Given the description of an element on the screen output the (x, y) to click on. 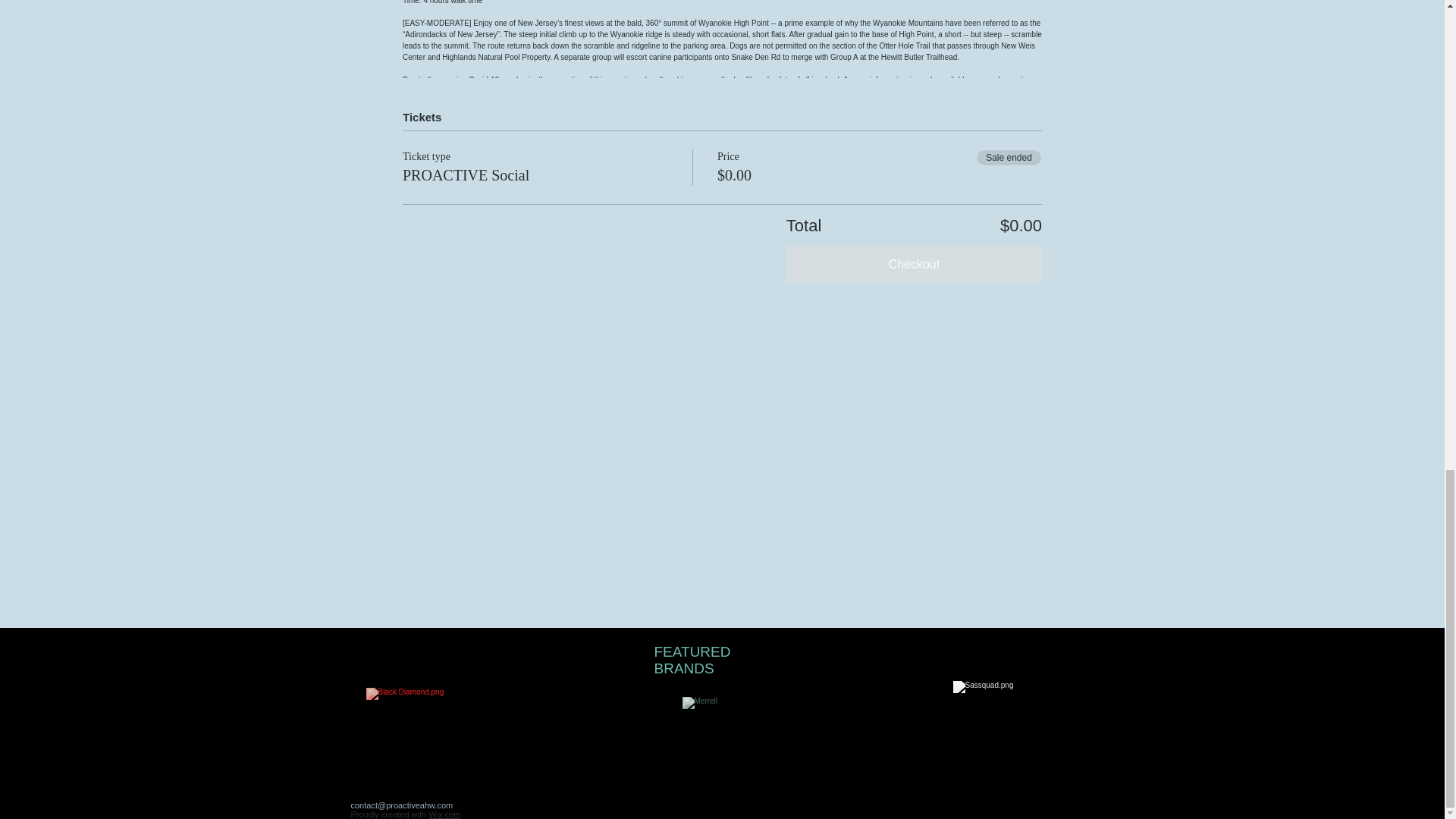
Checkout (914, 264)
